Given the description of an element on the screen output the (x, y) to click on. 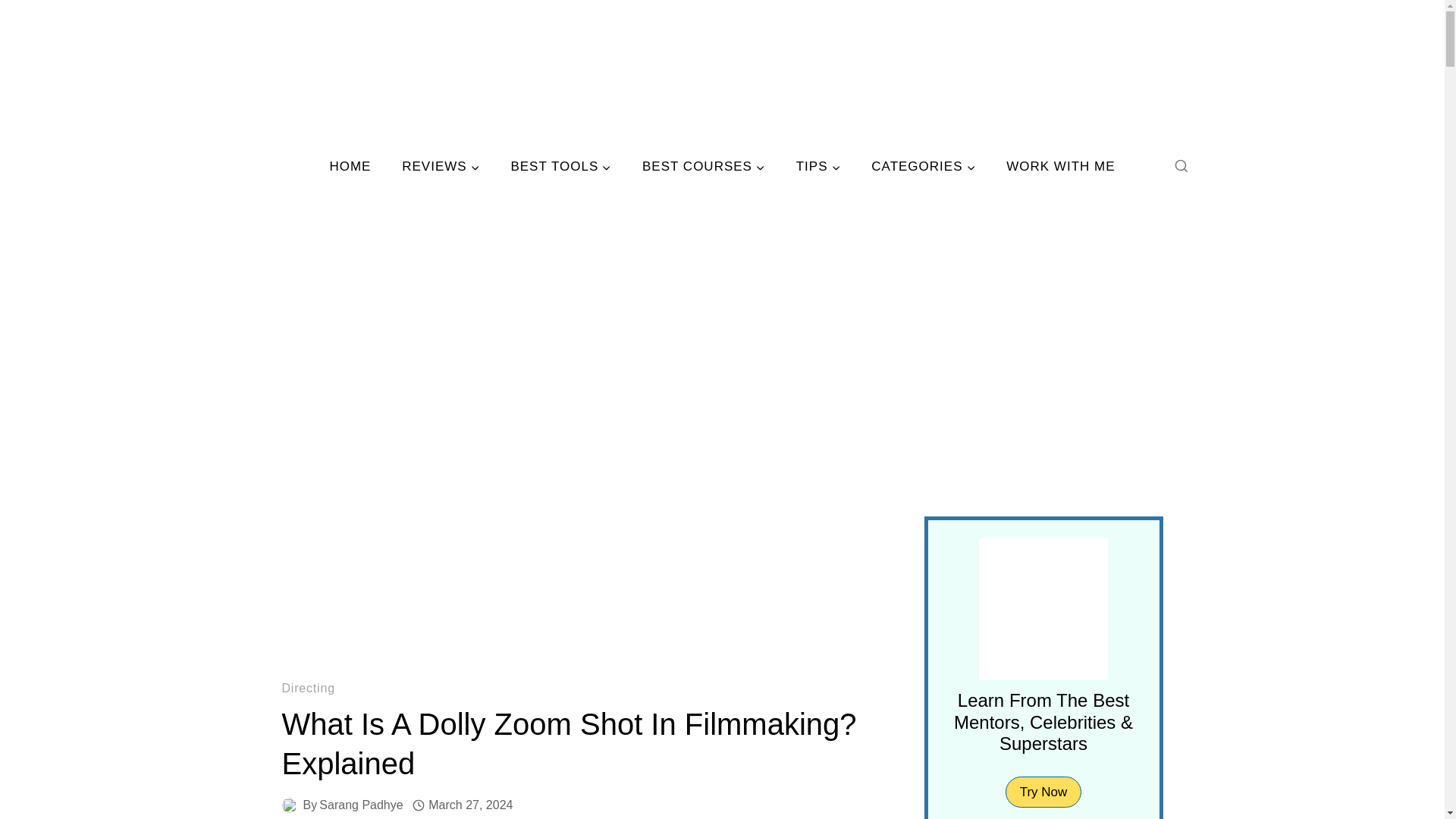
CATEGORIES (923, 166)
BEST COURSES (703, 166)
TIPS (818, 166)
BEST TOOLS (561, 166)
REVIEWS (441, 166)
HOME (350, 166)
